Given the description of an element on the screen output the (x, y) to click on. 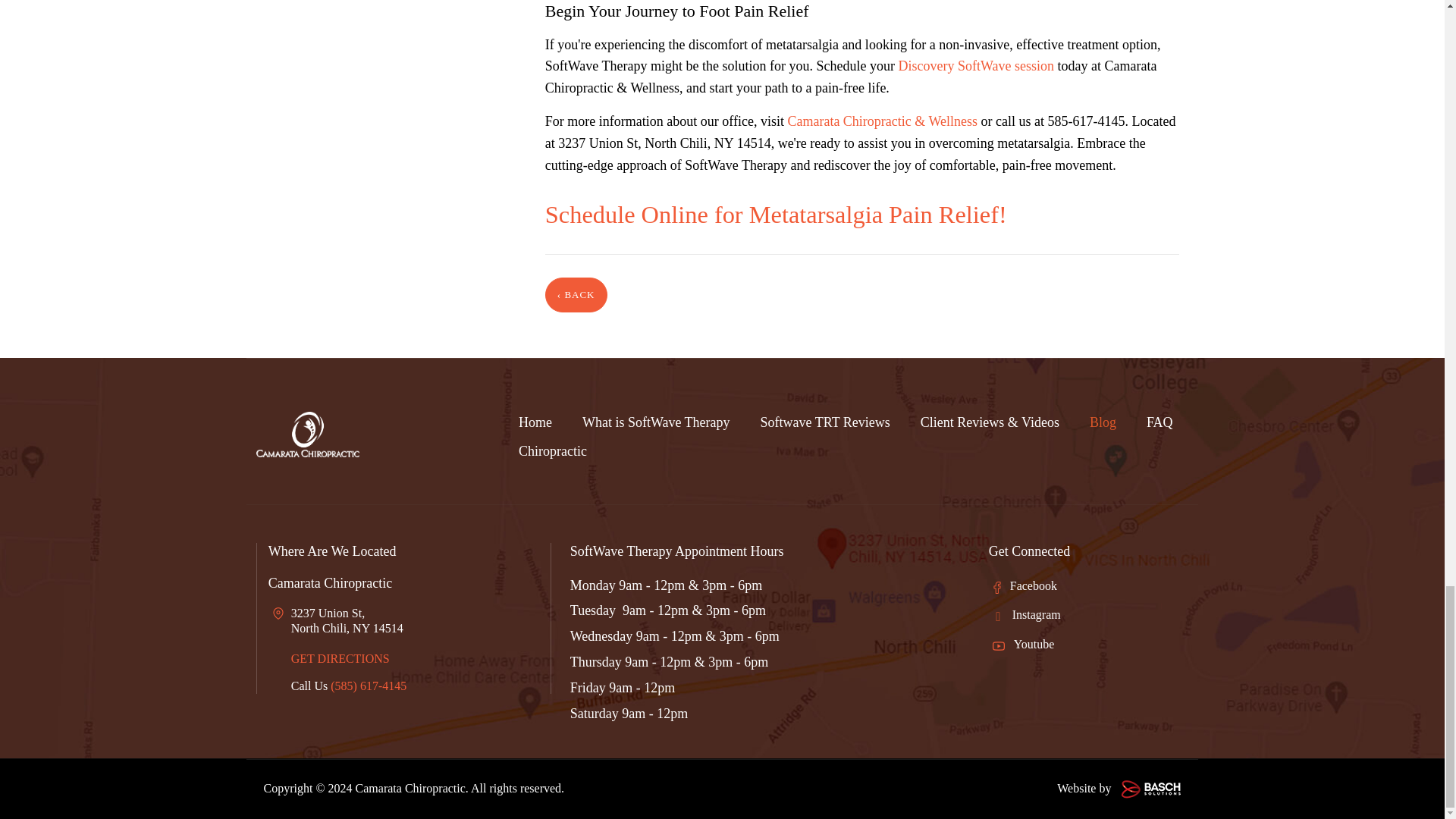
Discovery SoftWave session (976, 65)
Schedule Online for Metatarsalgia Pain Relief! (775, 214)
